Given the description of an element on the screen output the (x, y) to click on. 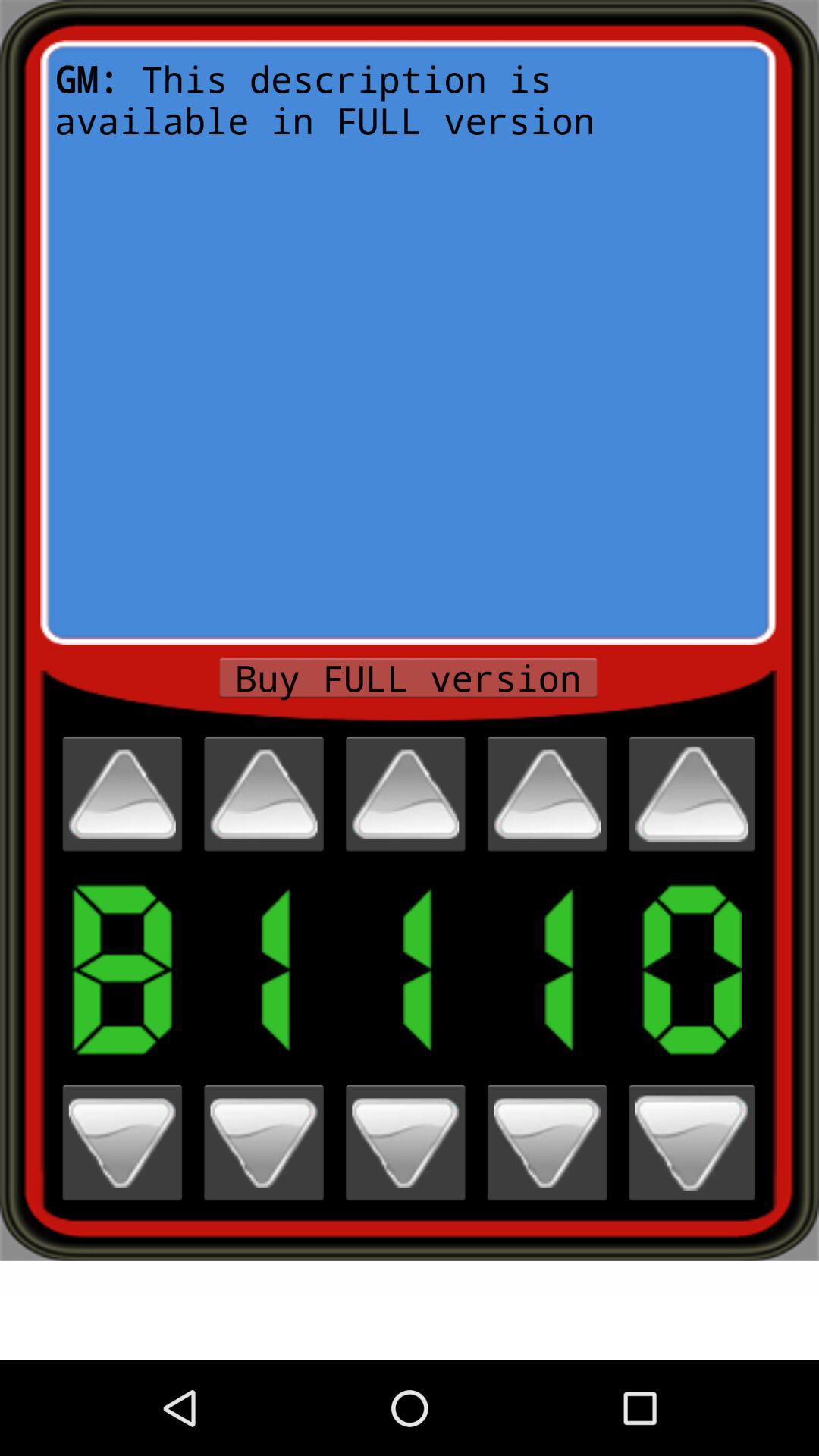
add number (263, 794)
